Given the description of an element on the screen output the (x, y) to click on. 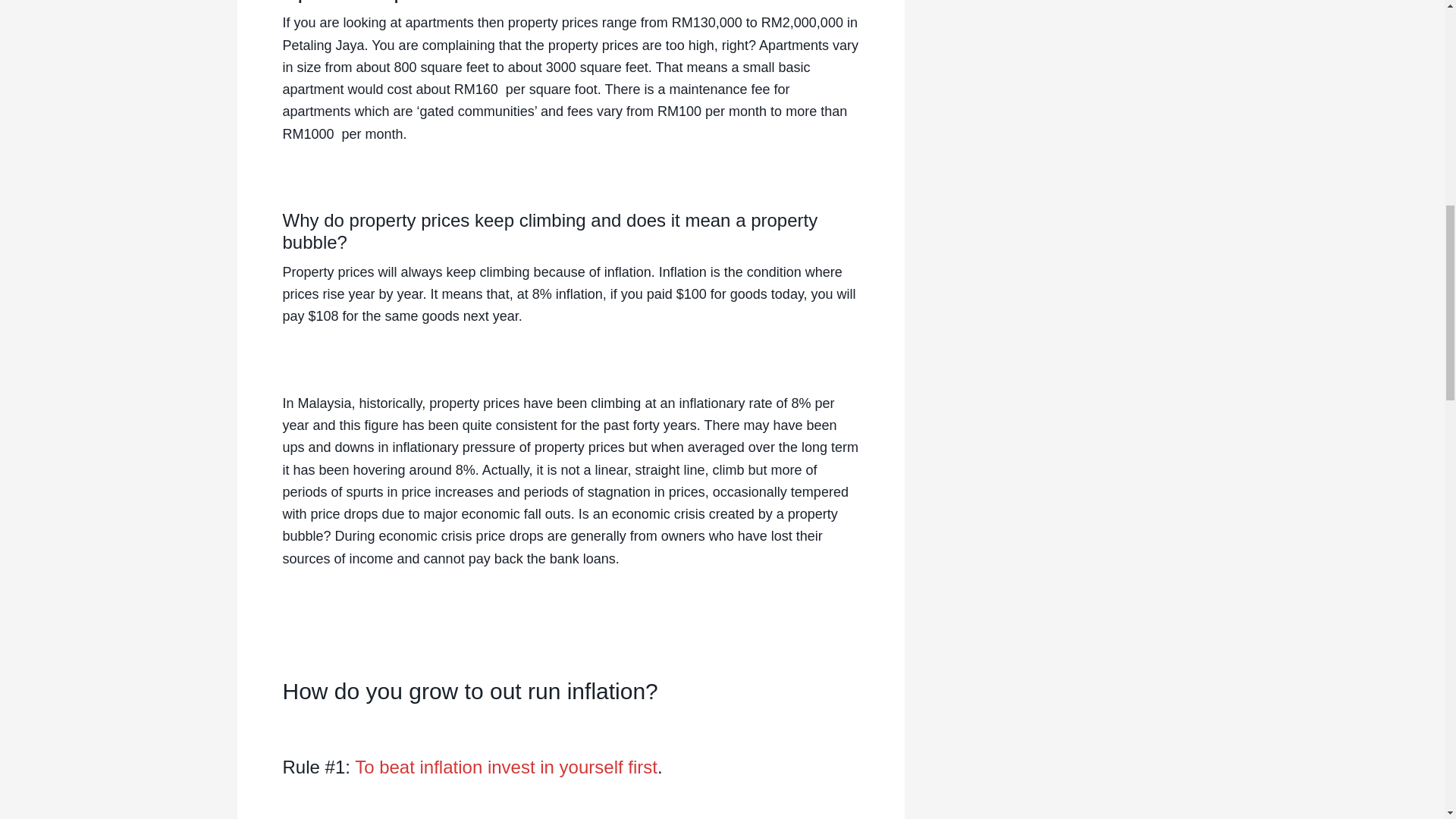
To beat inflation invest in yourself first (506, 766)
